Given the description of an element on the screen output the (x, y) to click on. 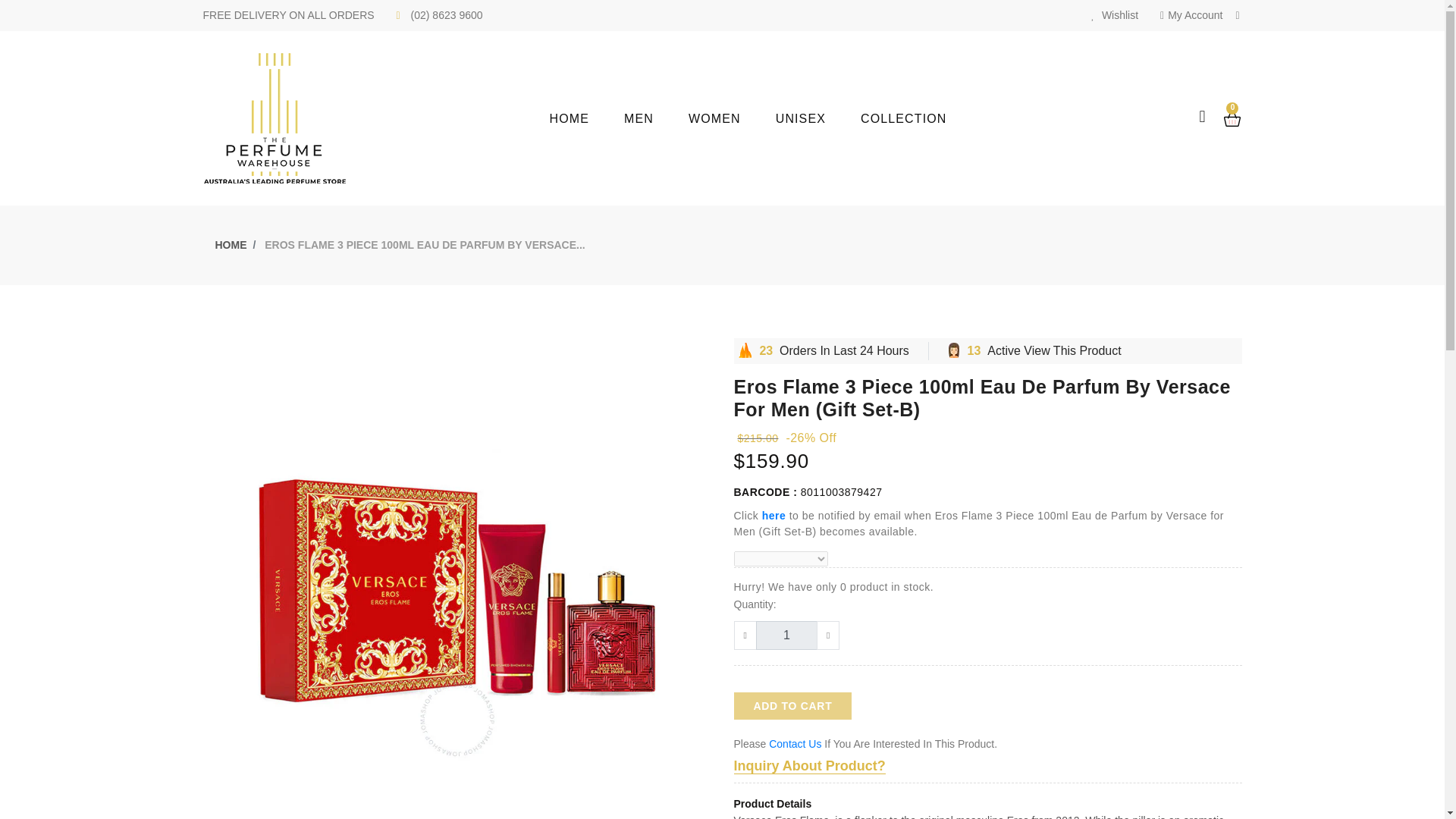
1 (785, 635)
HOME (587, 117)
UNISEX (818, 117)
MEN (656, 117)
WOMEN (732, 117)
Inquiry About Product? (809, 765)
COLLECTION (920, 117)
Contact Us (794, 743)
here (773, 515)
Wishlist (1114, 15)
